Given the description of an element on the screen output the (x, y) to click on. 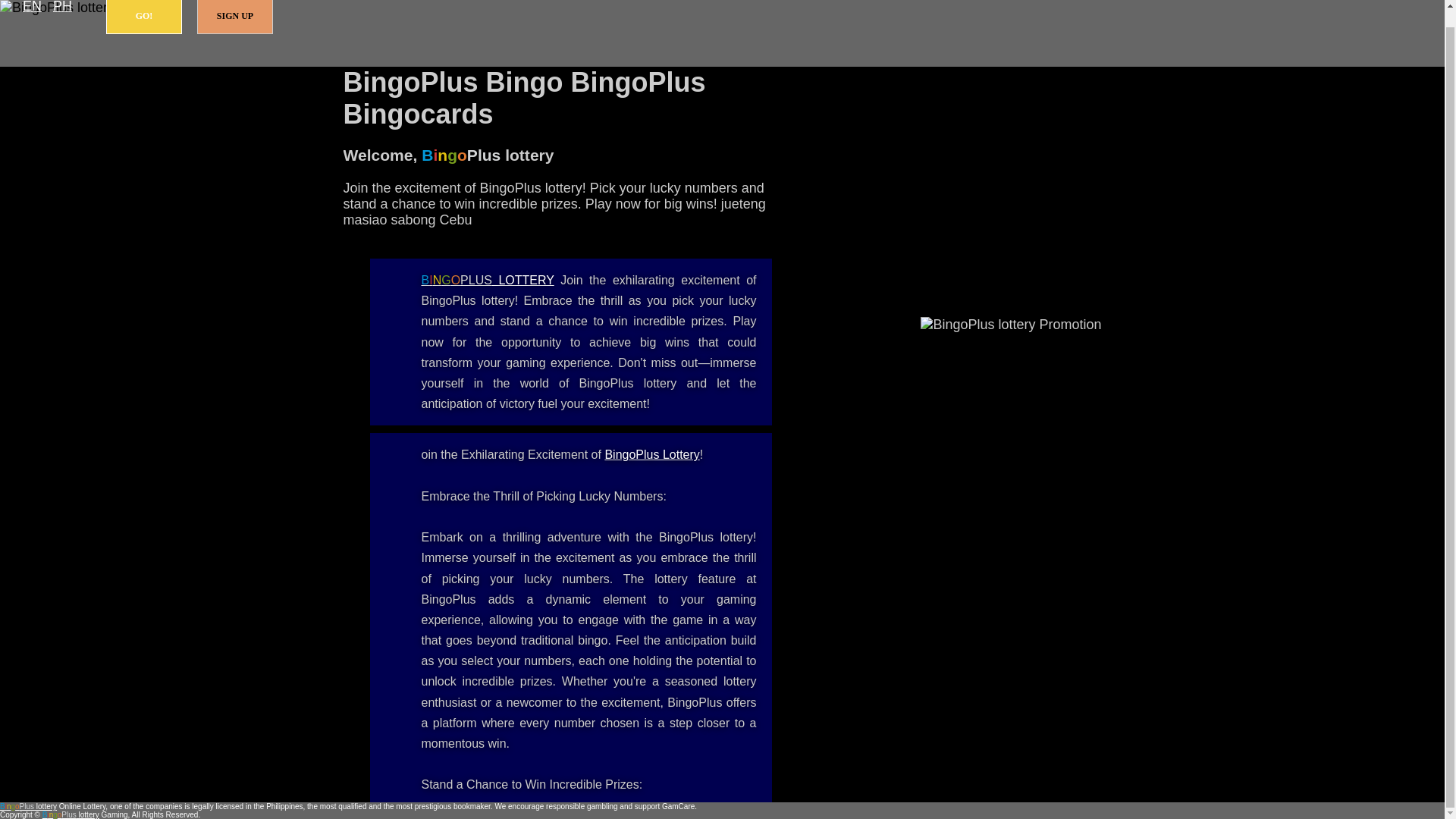
Pilipinas - Filipino (61, 7)
BINGOPLUS LOTTERY (488, 279)
PH (61, 7)
GO! (144, 17)
EN (32, 7)
BingoPlus Lottery - BingoPlus lottery (651, 454)
BingoPlus Lottery (651, 454)
BingoPlus lottery (488, 279)
SIGN UP (234, 17)
English - Filipino (32, 7)
BingoPlus lottery (28, 806)
